Given the description of an element on the screen output the (x, y) to click on. 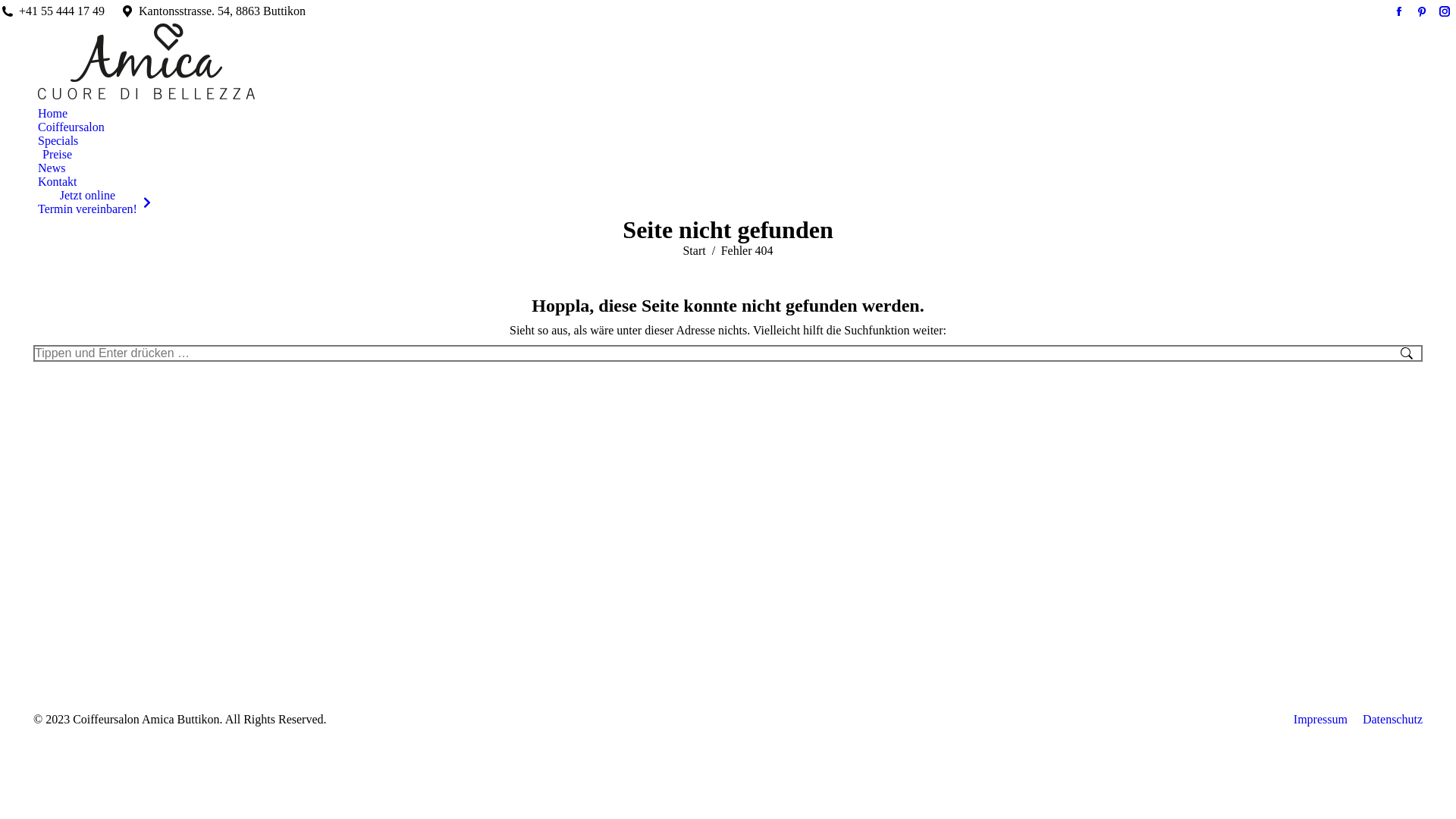
Impressum Element type: text (1320, 719)
Start Element type: text (693, 250)
Jetzt online
Termin vereinbaren! Element type: text (93, 202)
Pinterest page opens in new window Element type: text (1421, 11)
Preise Element type: text (54, 154)
Instagram page opens in new window Element type: text (1444, 11)
Coiffeursalon Element type: text (70, 127)
Home Element type: text (52, 113)
Specials Element type: text (57, 140)
News Element type: text (51, 168)
Datenschutz Element type: text (1392, 719)
Kontakt Element type: text (57, 181)
Facebook page opens in new window Element type: text (1398, 11)
